Given the description of an element on the screen output the (x, y) to click on. 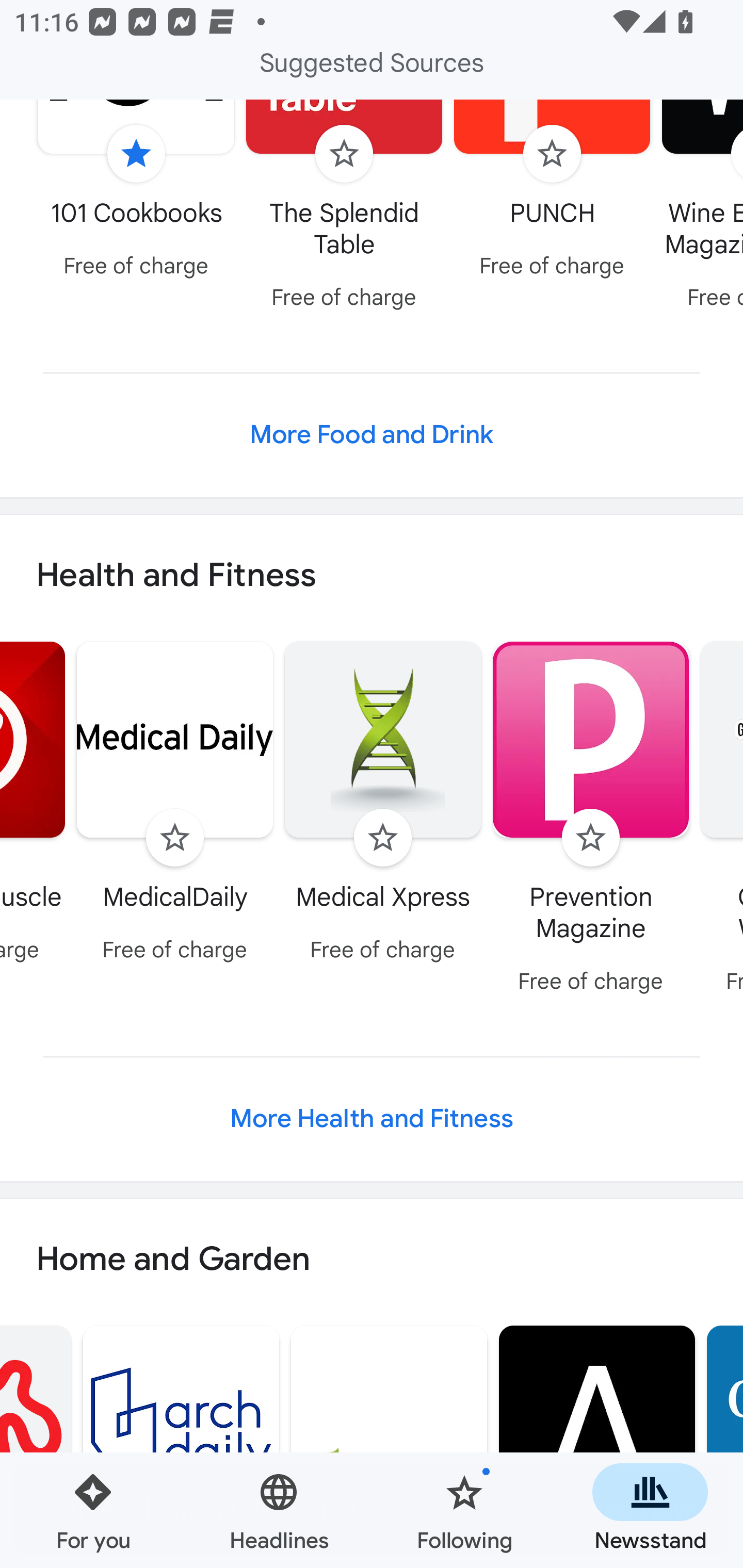
Unfollow 101 Cookbooks Free of charge (136, 194)
Follow The Splendid Table Free of charge (344, 209)
Follow PUNCH Free of charge (552, 194)
Unfollow (135, 153)
Follow (343, 153)
Follow (552, 153)
More Food and Drink (371, 435)
Health and Fitness (371, 575)
Follow MedicalDaily Free of charge (175, 804)
Follow Medical Xpress Free of charge (383, 804)
Follow Prevention Magazine Free of charge (590, 820)
Follow (174, 838)
Follow (382, 838)
Follow (590, 838)
More Health and Fitness (371, 1118)
Home and Garden (371, 1259)
For you (92, 1509)
Headlines (278, 1509)
Following (464, 1509)
Newsstand (650, 1509)
